Given the description of an element on the screen output the (x, y) to click on. 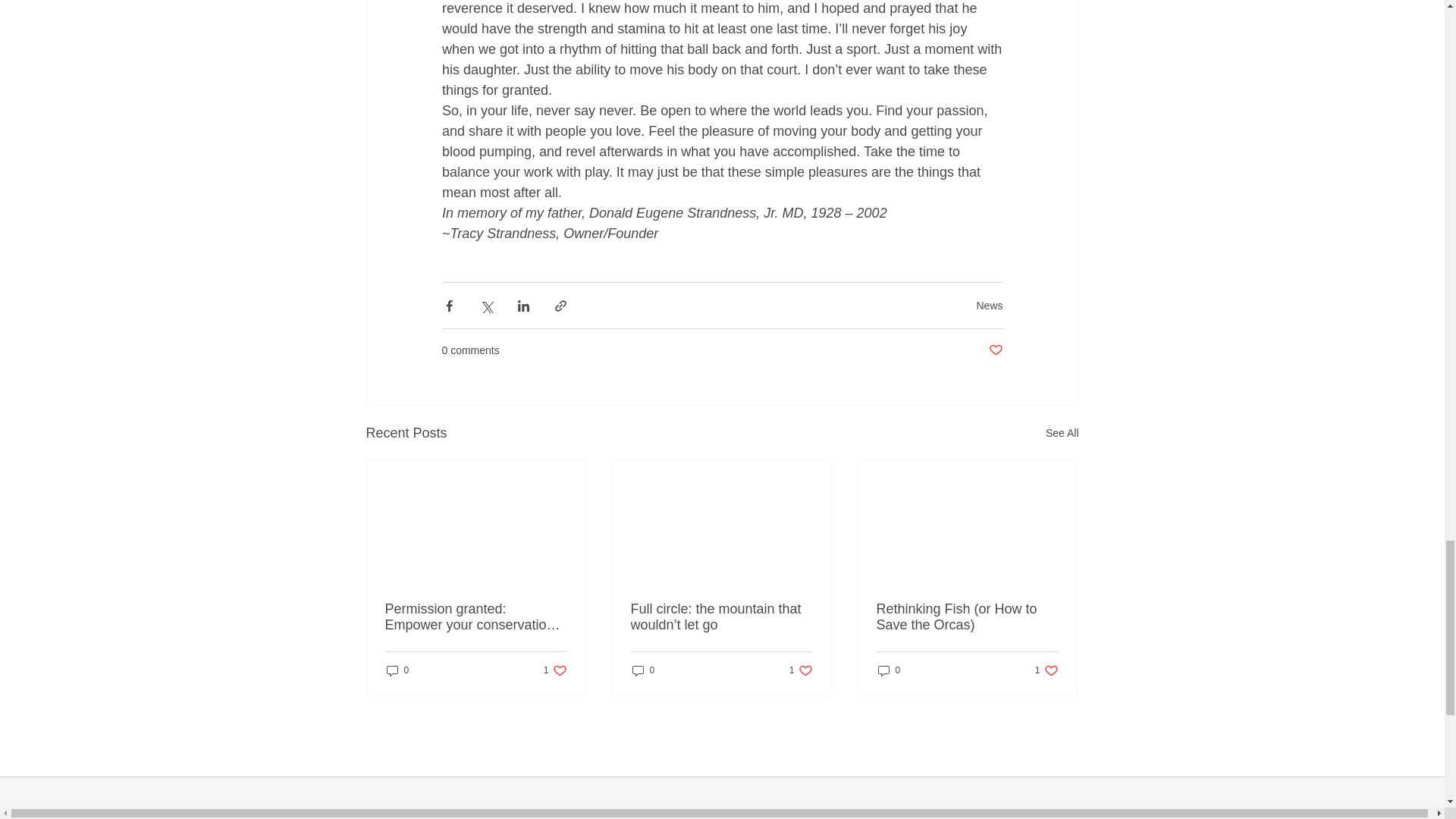
Permission granted: Empower your conservation activism (476, 617)
Post not marked as liked (995, 350)
News (989, 304)
See All (1061, 433)
